Given the description of an element on the screen output the (x, y) to click on. 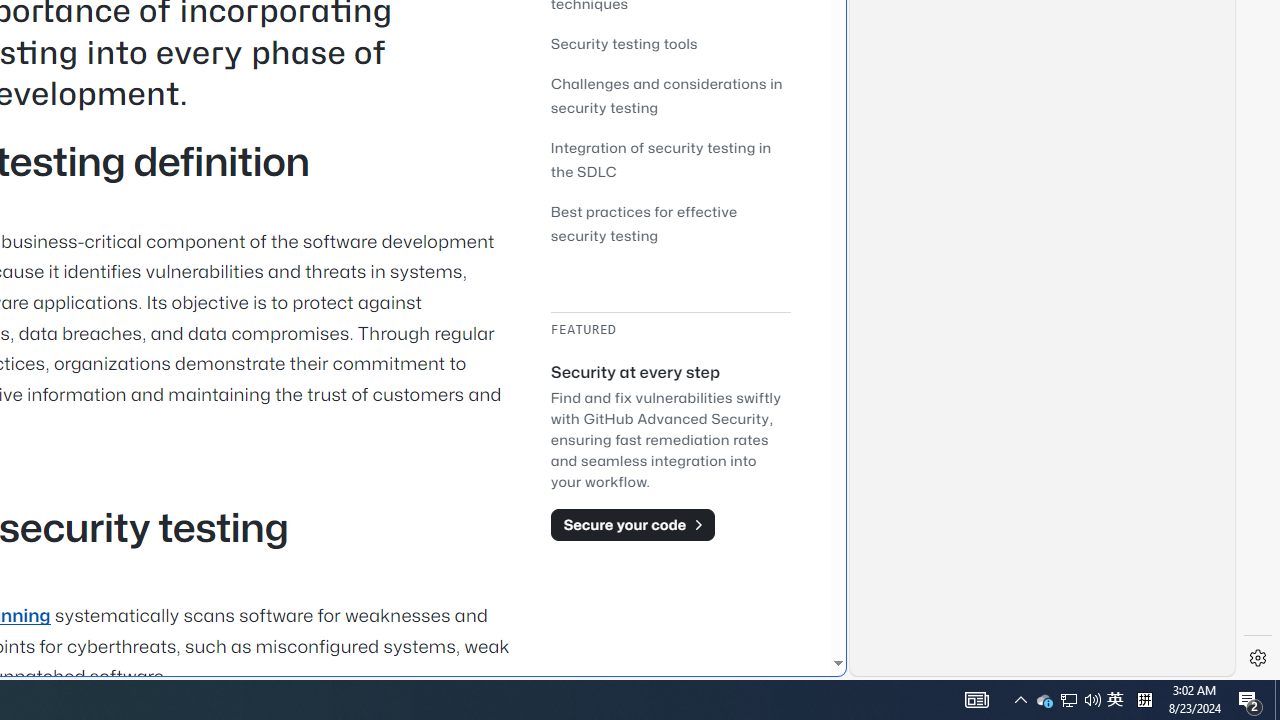
Best practices for effective security testing (670, 222)
Challenges and considerations in security testing (666, 94)
Secure your code (632, 524)
Best practices for effective security testing (644, 223)
Integration of security testing in the SDLC (660, 159)
Security testing tools (623, 43)
Security testing tools (670, 43)
Integration of security testing in the SDLC (670, 159)
Challenges and considerations in security testing (670, 95)
